Given the description of an element on the screen output the (x, y) to click on. 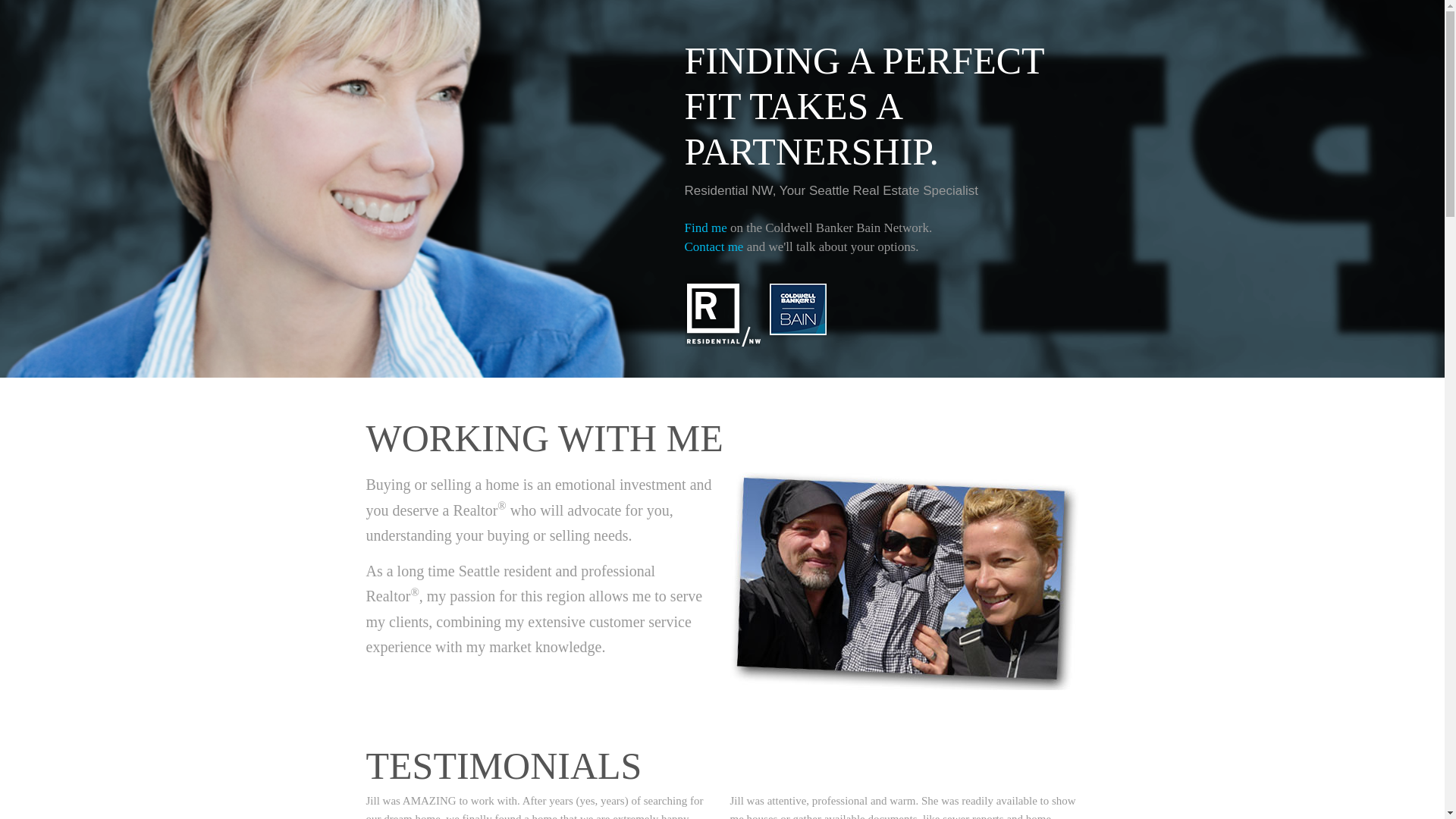
Contact me (713, 246)
Find me (705, 227)
Contact me (713, 246)
